Given the description of an element on the screen output the (x, y) to click on. 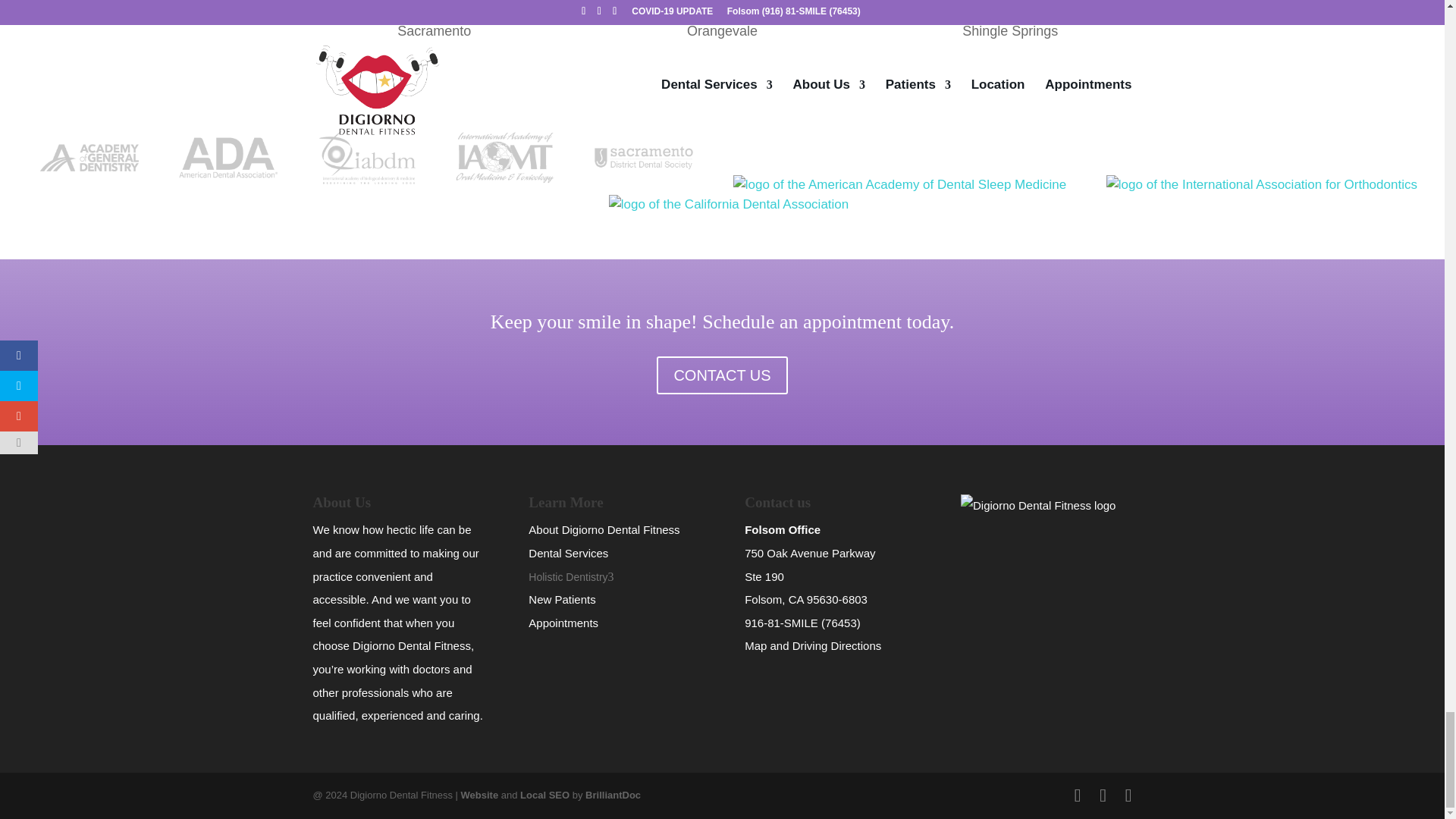
logo of the American Dental Association (228, 157)
Sacramento District Dental Society (643, 157)
logo of the American Academy of Dental Sleep Medicine (899, 184)
logo of the Academy of General Dentistry (89, 157)
